Given the description of an element on the screen output the (x, y) to click on. 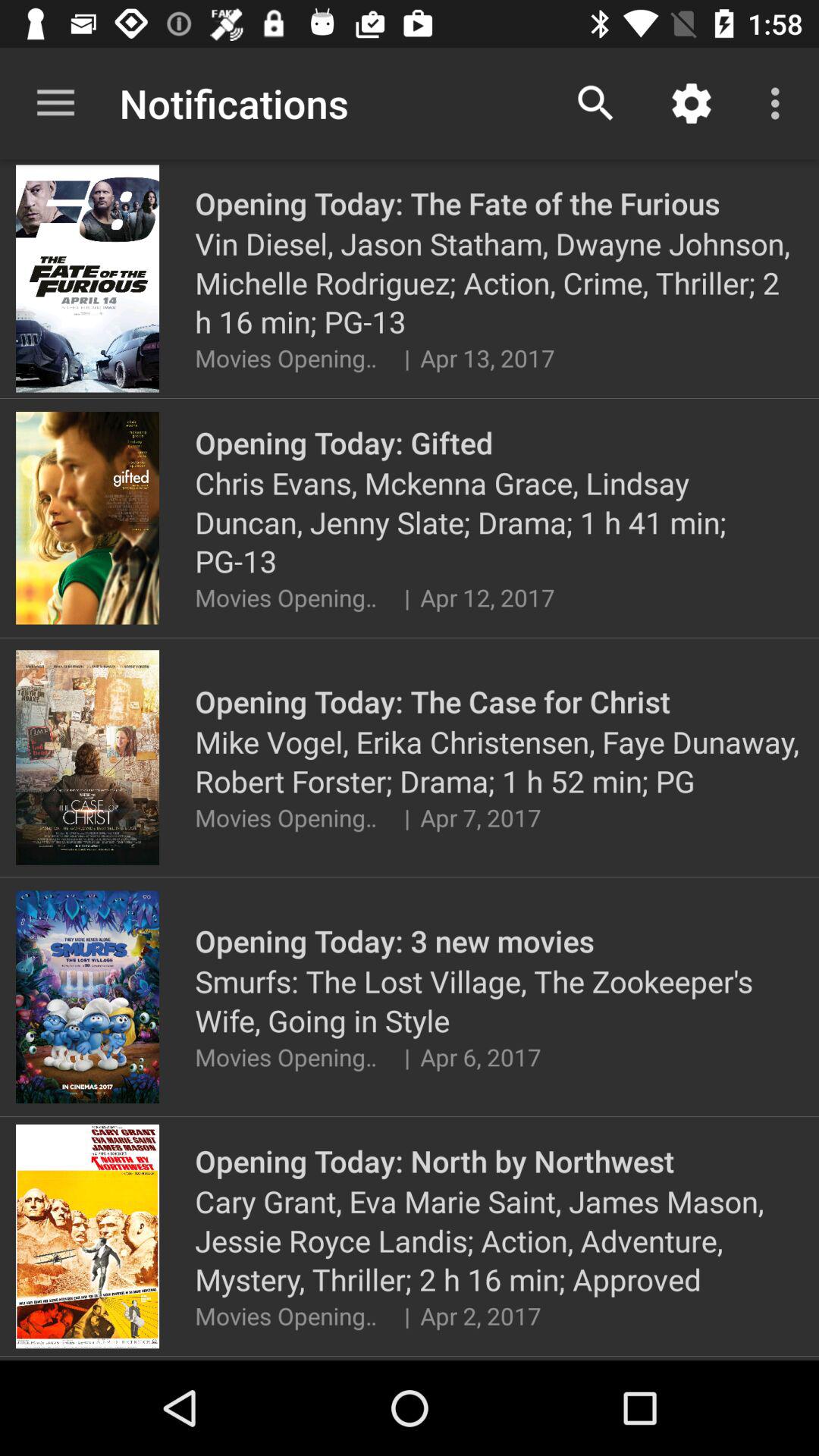
turn off the item next to the movies opening today (407, 1315)
